Given the description of an element on the screen output the (x, y) to click on. 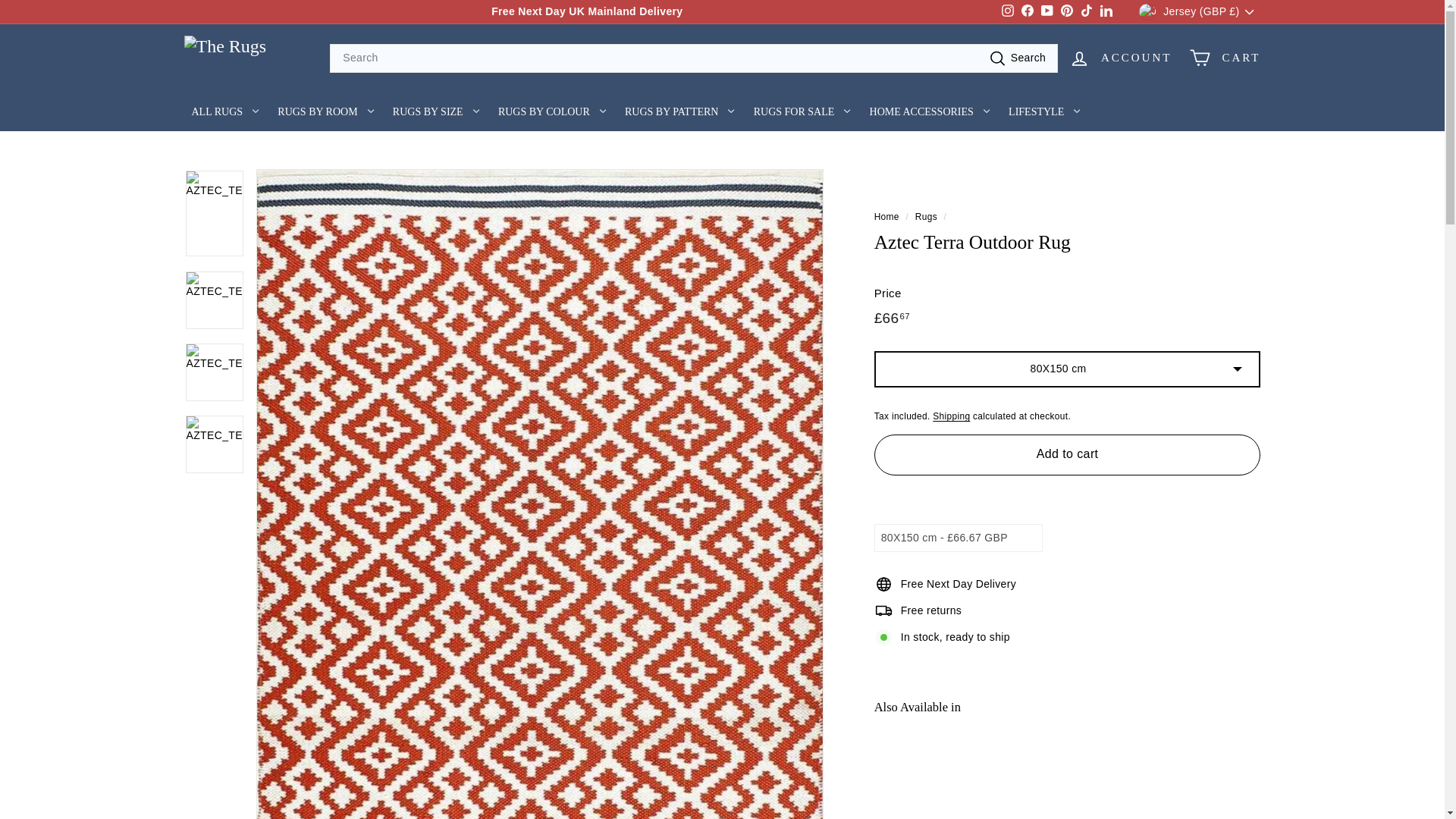
CART (1224, 58)
The Rugs on Instagram (1007, 12)
The Rugs on YouTube (1007, 12)
Pinterest (1046, 12)
The Rugs on TikTok (1067, 12)
TikTok (1086, 12)
LinkedIn (1086, 12)
ACCOUNT (1106, 12)
instagram (1119, 58)
The Rugs on Facebook (1007, 10)
Facebook (1026, 12)
The Rugs on Pinterest (1026, 12)
YouTube (1067, 12)
Back to the frontpage (1046, 12)
